Given the description of an element on the screen output the (x, y) to click on. 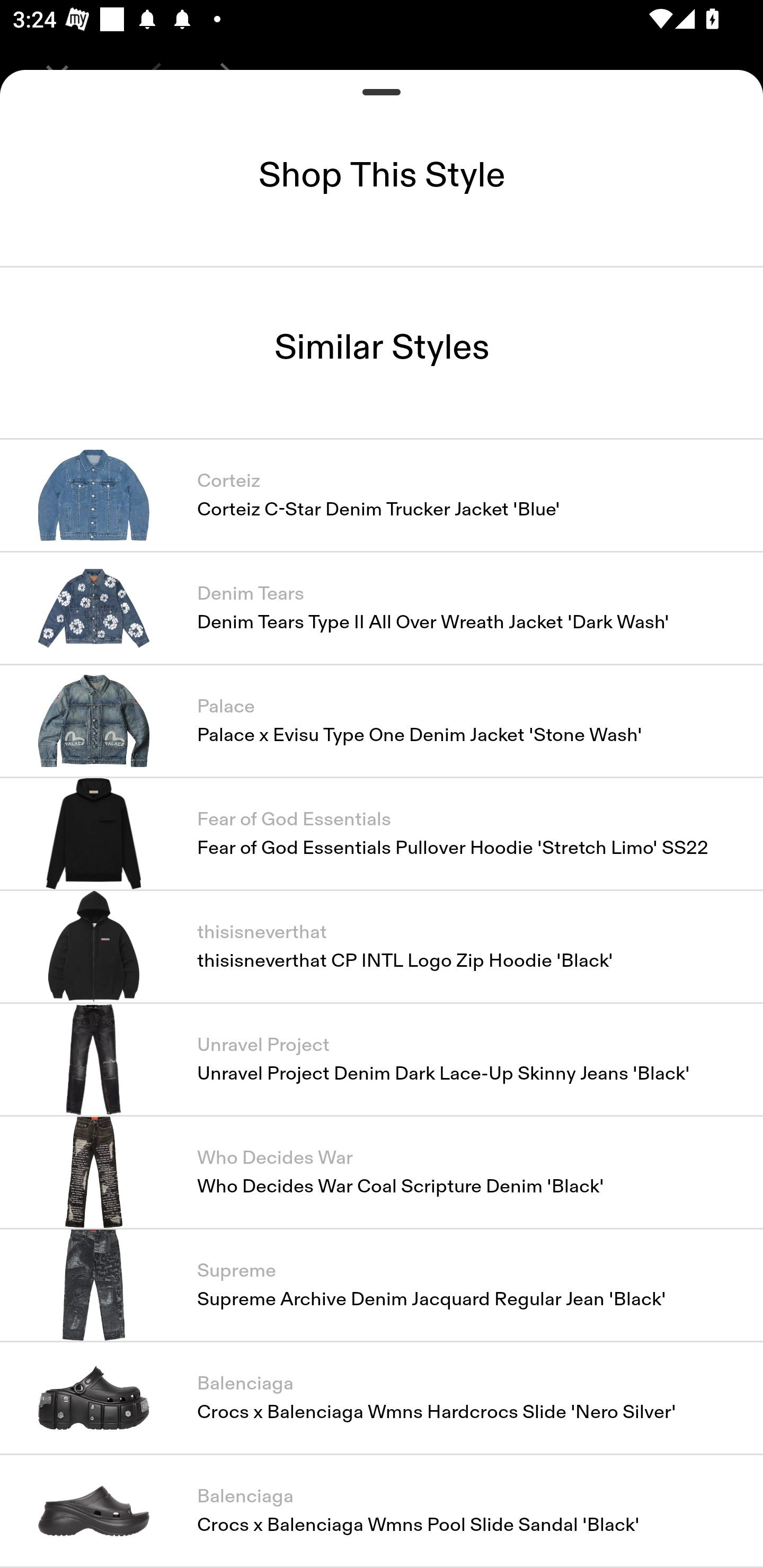
Corteiz Corteiz C-Star Denim Trucker Jacket 'Blue' (381, 494)
